Given the description of an element on the screen output the (x, y) to click on. 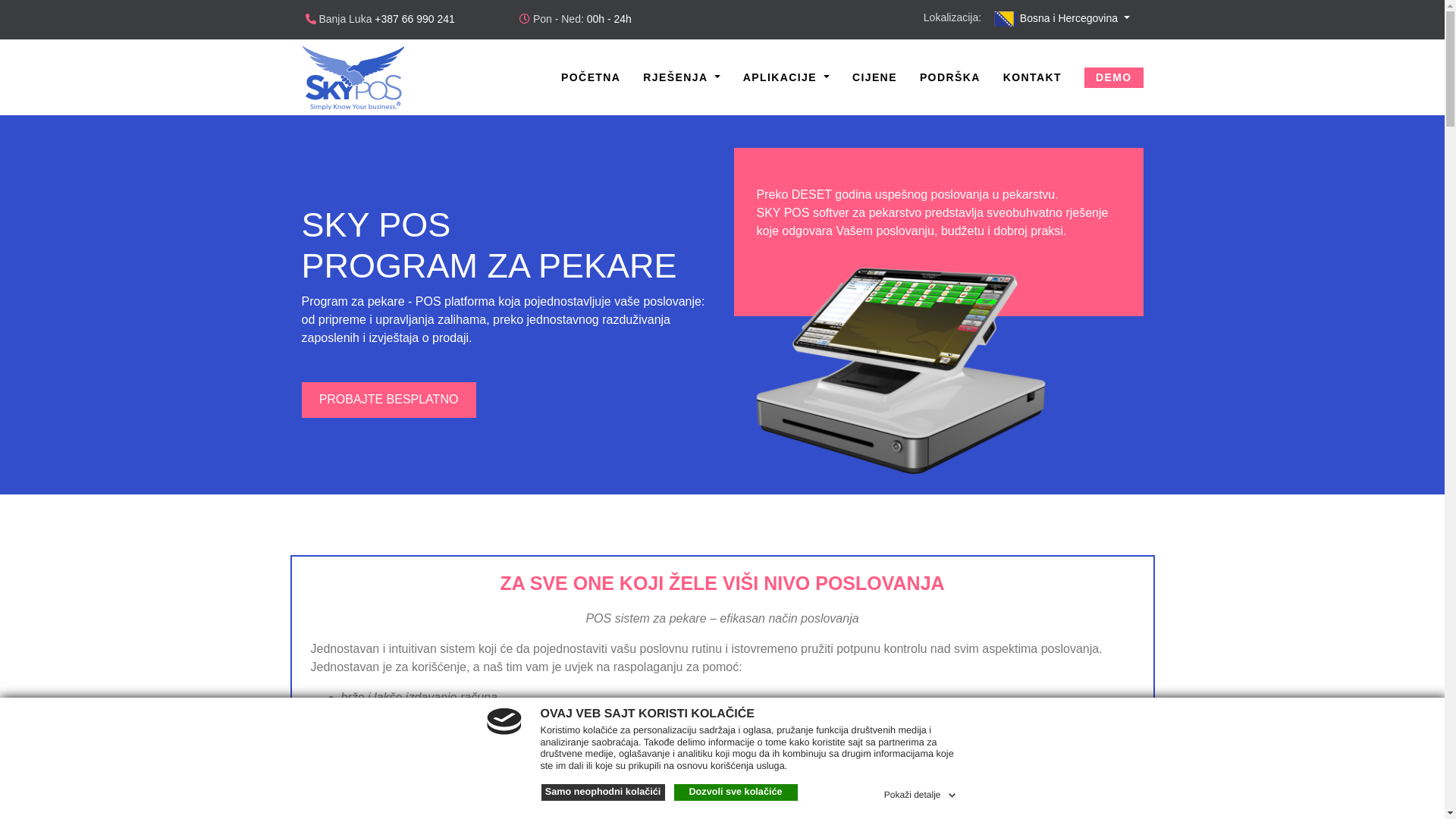
Bosna i Hercegovina Element type: text (1061, 18)
KONTAKT Element type: text (1032, 77)
DEMO Element type: text (1113, 77)
APLIKACIJE Element type: text (786, 77)
Banja Luka +387 66 990 241 Element type: text (379, 18)
PROBAJTE BESPLATNO Element type: text (388, 399)
CIJENE Element type: text (874, 77)
